Given the description of an element on the screen output the (x, y) to click on. 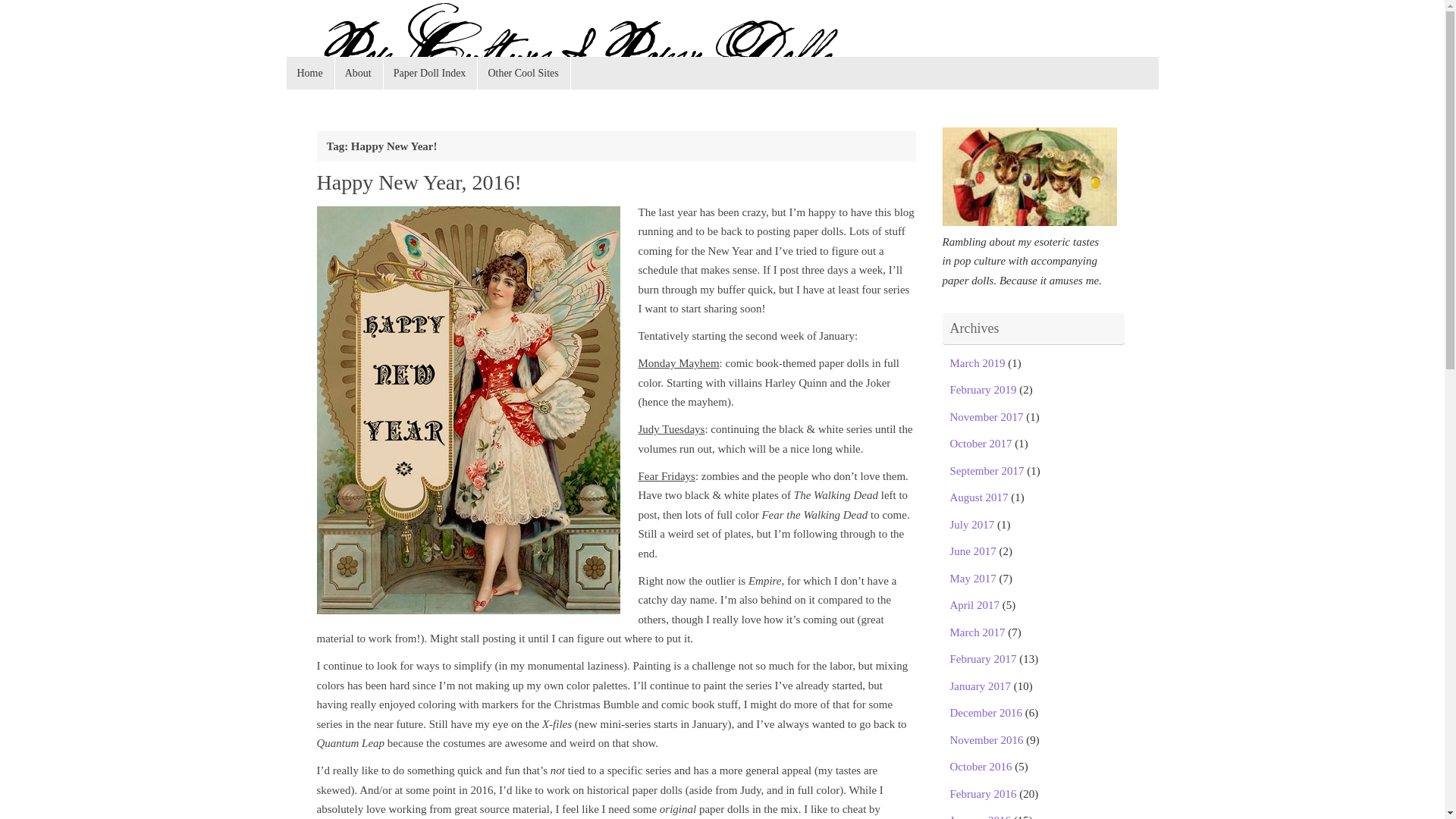
September 2017 (986, 470)
October 2017 (980, 443)
February 2016 (982, 793)
November 2016 (986, 739)
December 2016 (985, 712)
April 2017 (973, 604)
October 2016 (980, 766)
February 2019 (982, 389)
Pop Culture Paper Dolls (722, 45)
May 2017 (972, 578)
